Given the description of an element on the screen output the (x, y) to click on. 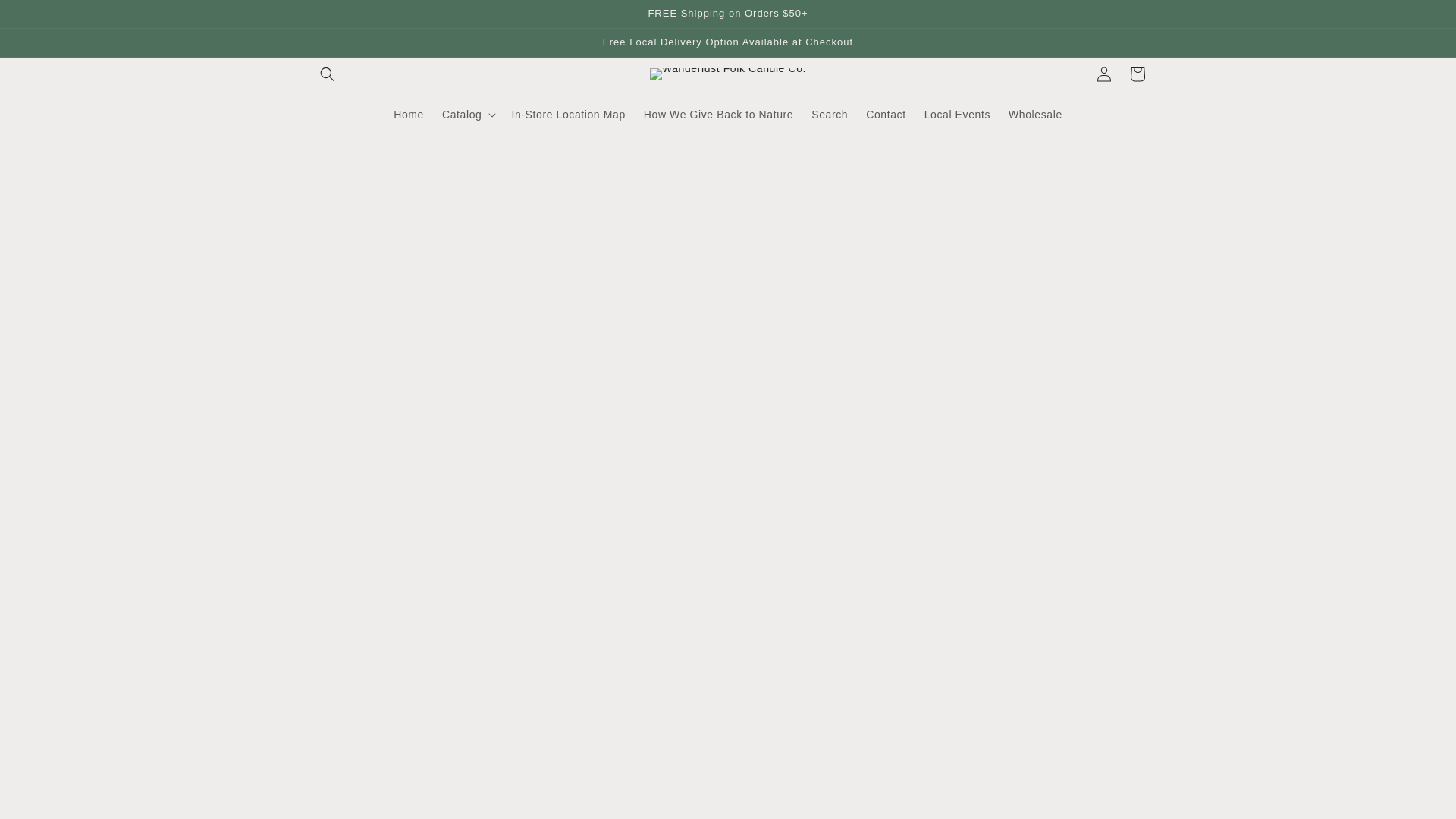
Ir directamente al contenido (45, 17)
